Given the description of an element on the screen output the (x, y) to click on. 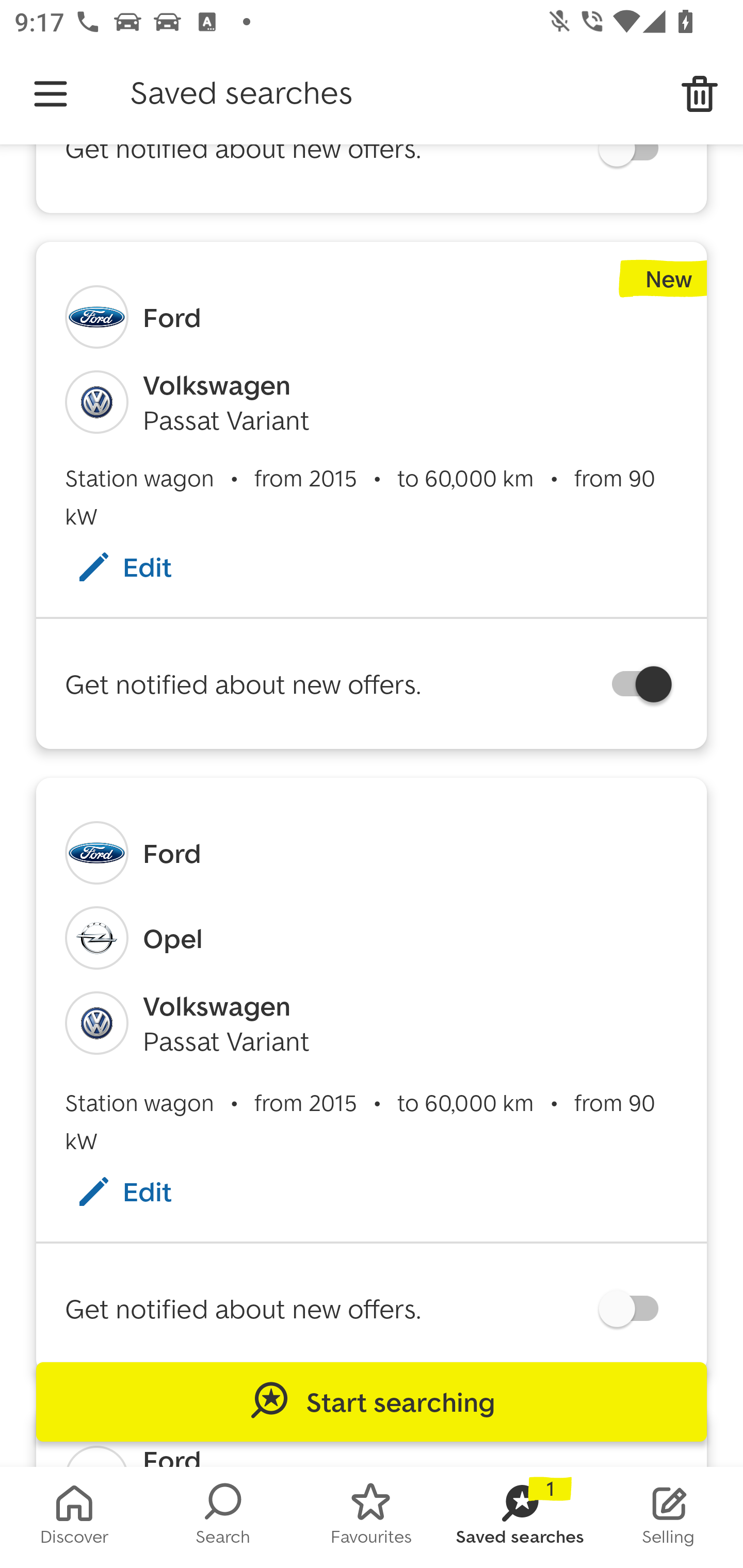
Navigate up (50, 93)
Delete vehicles (699, 93)
Edit (144, 566)
Edit (144, 1191)
Start searching (371, 1401)
HOMESCREEN Discover (74, 1517)
SEARCH Search (222, 1517)
FAVORITES Favourites (371, 1517)
SAVED_SEARCHES Saved searches 1 (519, 1517)
STOCK_LIST Selling (668, 1517)
